Given the description of an element on the screen output the (x, y) to click on. 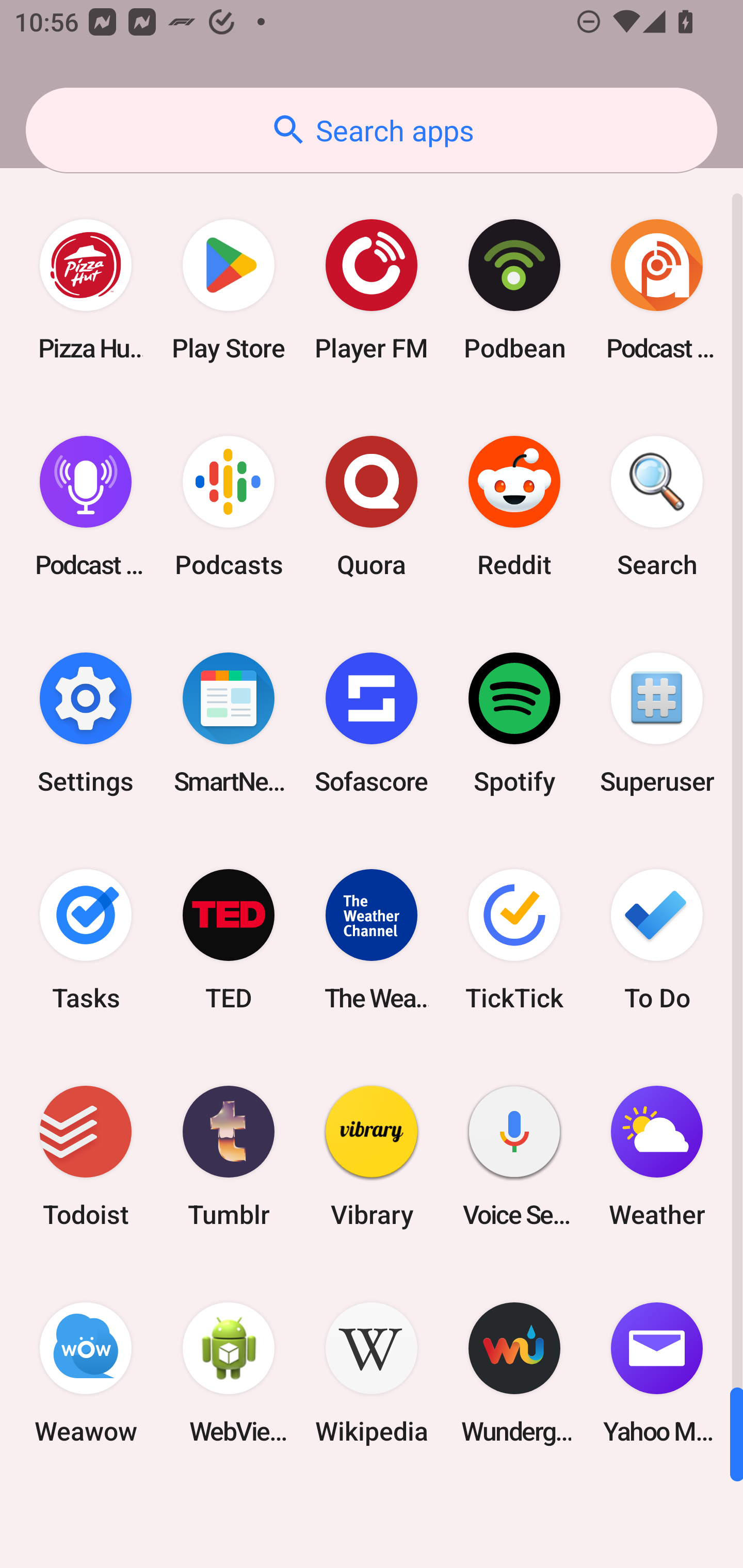
  Search apps (371, 130)
Pizza Hut HK & Macau (85, 289)
Play Store (228, 289)
Player FM (371, 289)
Podbean (514, 289)
Podcast Addict (656, 289)
Podcast Player (85, 506)
Podcasts (228, 506)
Quora (371, 506)
Reddit (514, 506)
Search (656, 506)
Settings (85, 722)
SmartNews (228, 722)
Sofascore (371, 722)
Spotify (514, 722)
Superuser (656, 722)
Tasks (85, 939)
TED (228, 939)
The Weather Channel (371, 939)
TickTick (514, 939)
To Do (656, 939)
Todoist (85, 1156)
Tumblr (228, 1156)
Vibrary (371, 1156)
Voice Search (514, 1156)
Weather (656, 1156)
Weawow (85, 1373)
WebView Browser Tester (228, 1373)
Wikipedia (371, 1373)
Wunderground (514, 1373)
Yahoo Mail (656, 1373)
